Given the description of an element on the screen output the (x, y) to click on. 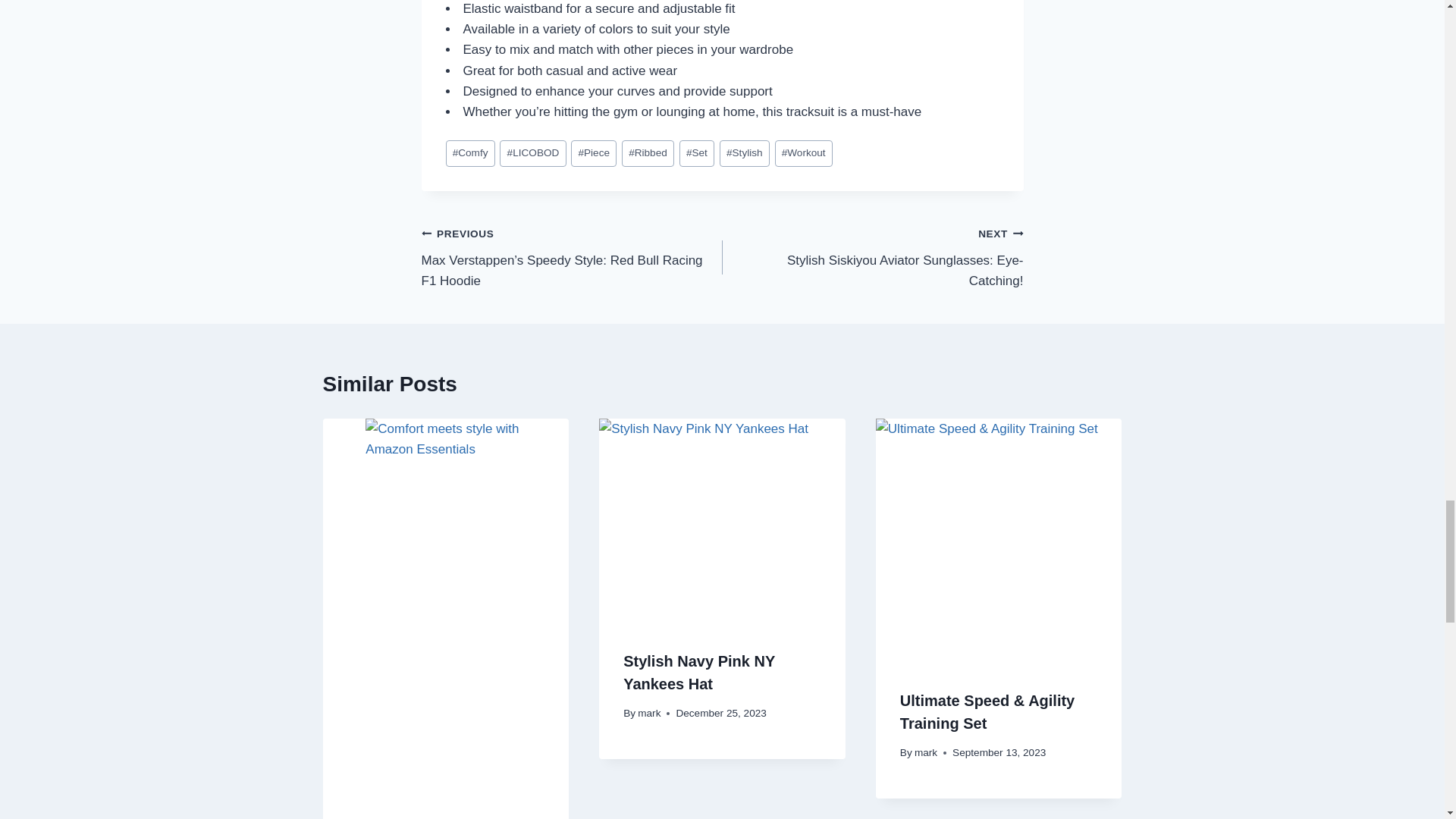
Piece (592, 153)
Comfy (872, 256)
mark (470, 153)
Stylish (649, 713)
LICOBOD (744, 153)
Workout (532, 153)
Set (803, 153)
Stylish Navy Pink NY Yankees Hat (696, 153)
Ribbed (698, 672)
